Given the description of an element on the screen output the (x, y) to click on. 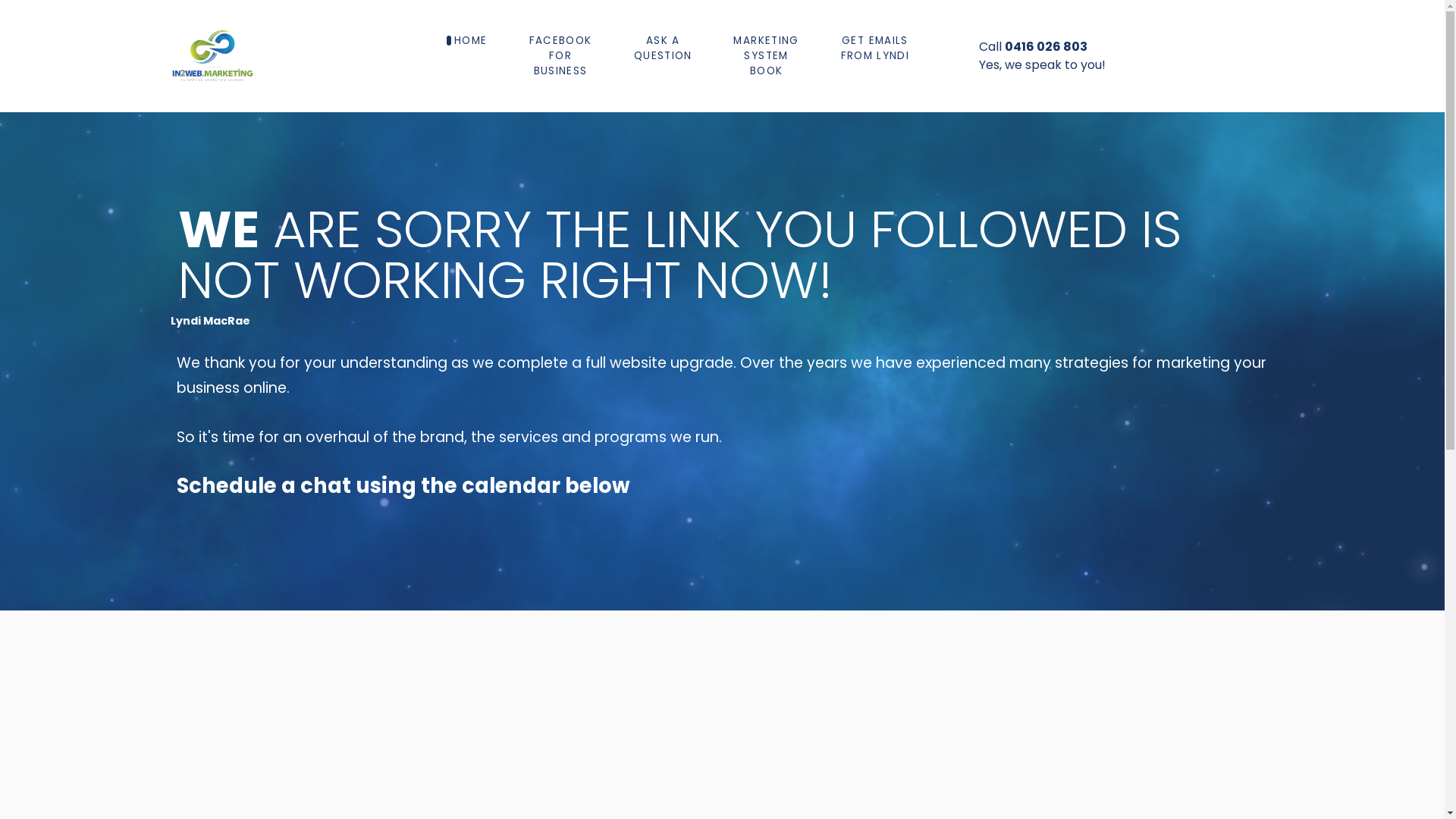
ASK A QUESTION Element type: text (662, 48)
FACEBOOK FOR BUSINESS Element type: text (560, 55)
MARKETING SYSTEM BOOK Element type: text (766, 55)
HOME Element type: text (470, 40)
GET EMAILS FROM LYNDI Element type: text (874, 48)
